Given the description of an element on the screen output the (x, y) to click on. 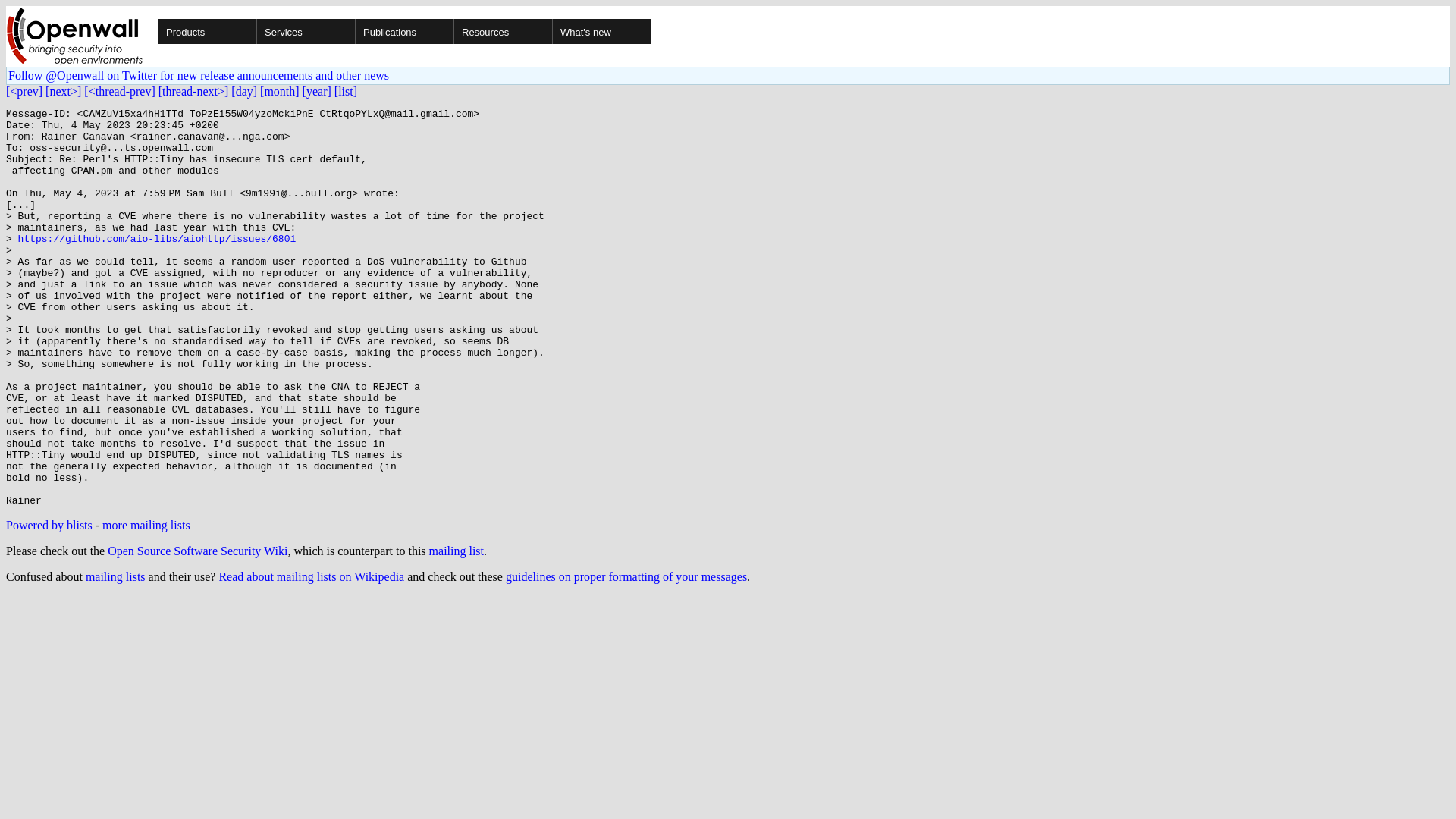
Linux Kernel Runtime Guard (185, 51)
Pro for macOS (180, 119)
Articles (132, 365)
tcb   better password shadowing (191, 242)
scanlogd   port scan detector (183, 269)
blists   web interface to mailing lists (201, 297)
in the cloud (173, 92)
Mailing lists (143, 406)
What's new (110, 502)
OVE IDs (135, 488)
